Given the description of an element on the screen output the (x, y) to click on. 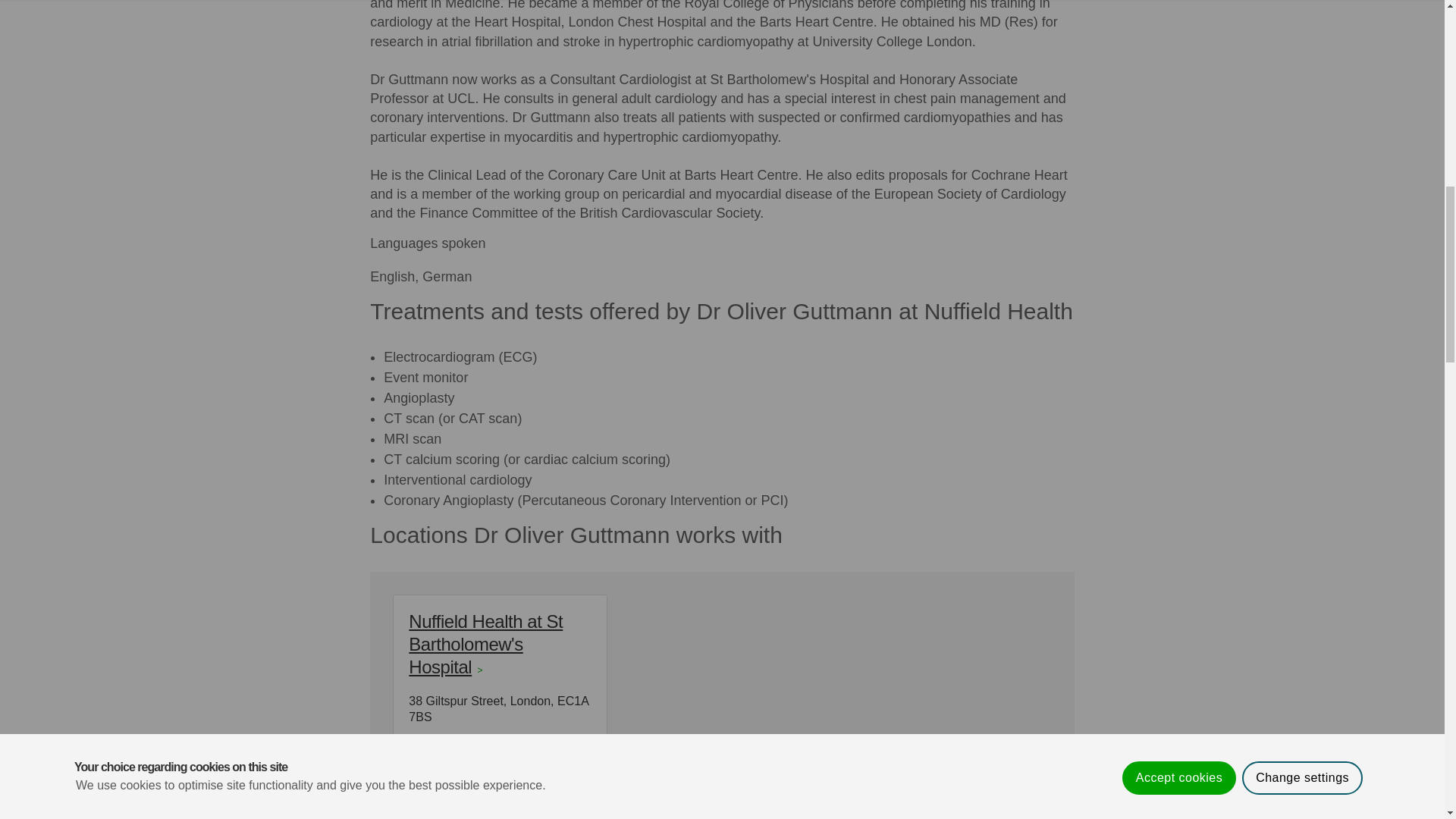
Accept cookies (1179, 24)
Change settings (1301, 12)
